Given the description of an element on the screen output the (x, y) to click on. 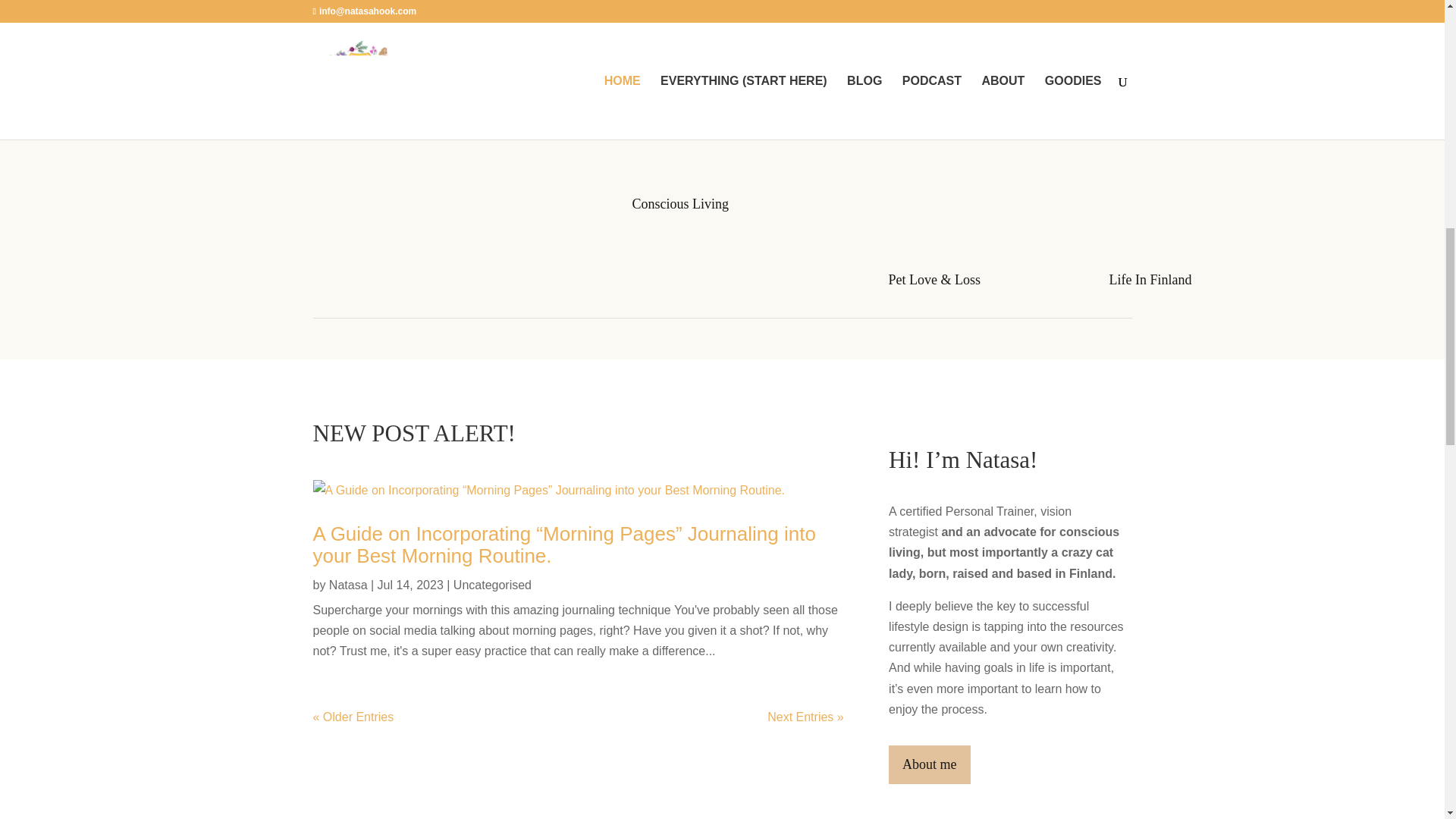
About me (929, 764)
Posts by Natasa (348, 584)
Uncategorised (491, 584)
Natasa (348, 584)
